Given the description of an element on the screen output the (x, y) to click on. 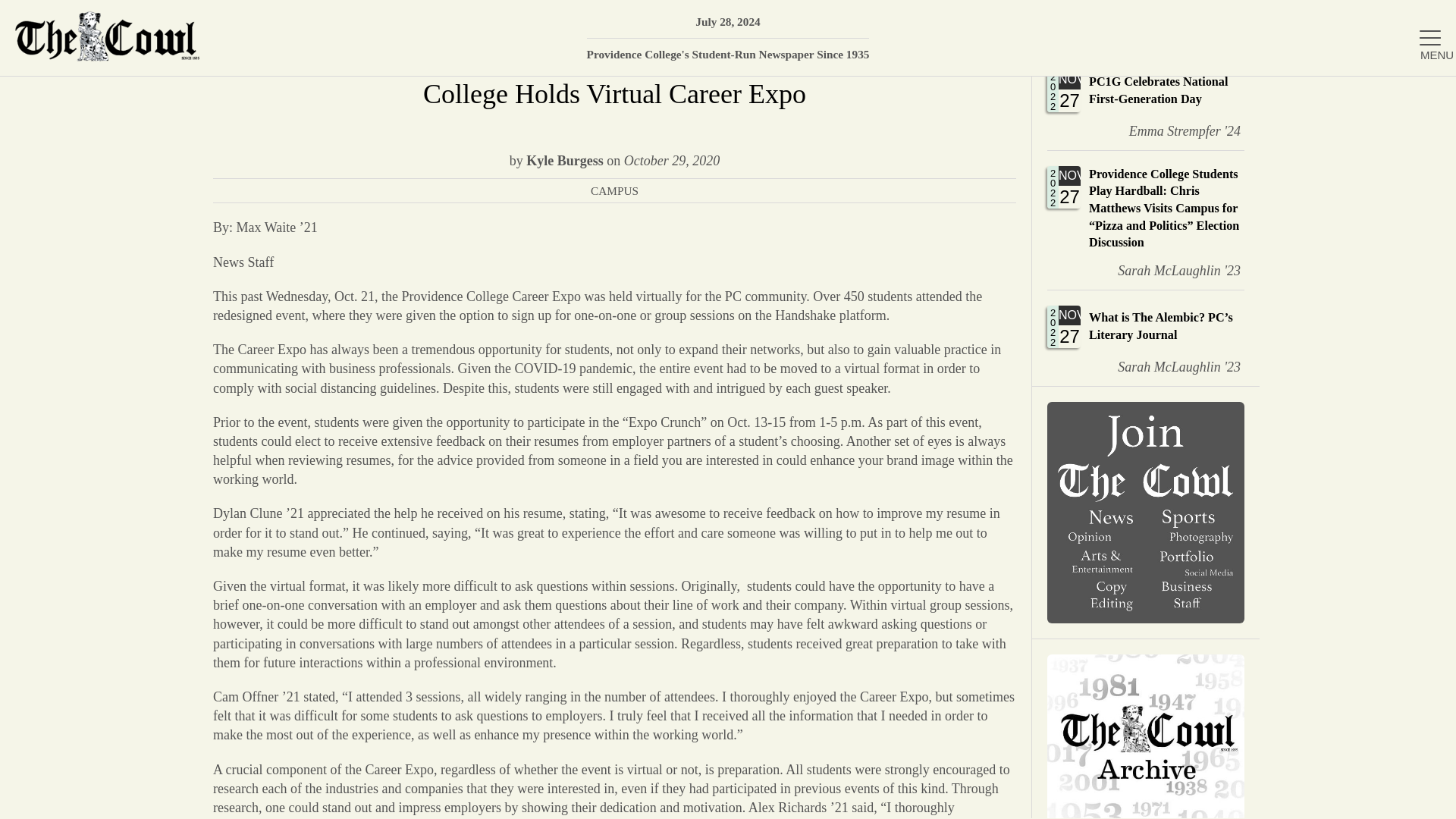
Search (1422, 19)
Campus (1145, 26)
Search (1422, 19)
About Us (1275, 124)
Opinion (1275, 272)
Sarah McLaughlin '23 (1167, 270)
Portfolio (1145, 101)
Letters to the Editor (1275, 321)
Emma Strempfer '24 (1275, 420)
Search (1173, 130)
News (1422, 19)
PC1G Celebrates National First-Generation Day (1275, 174)
Sarah McLaughlin '23 (1145, 101)
Sports (1167, 366)
